Given the description of an element on the screen output the (x, y) to click on. 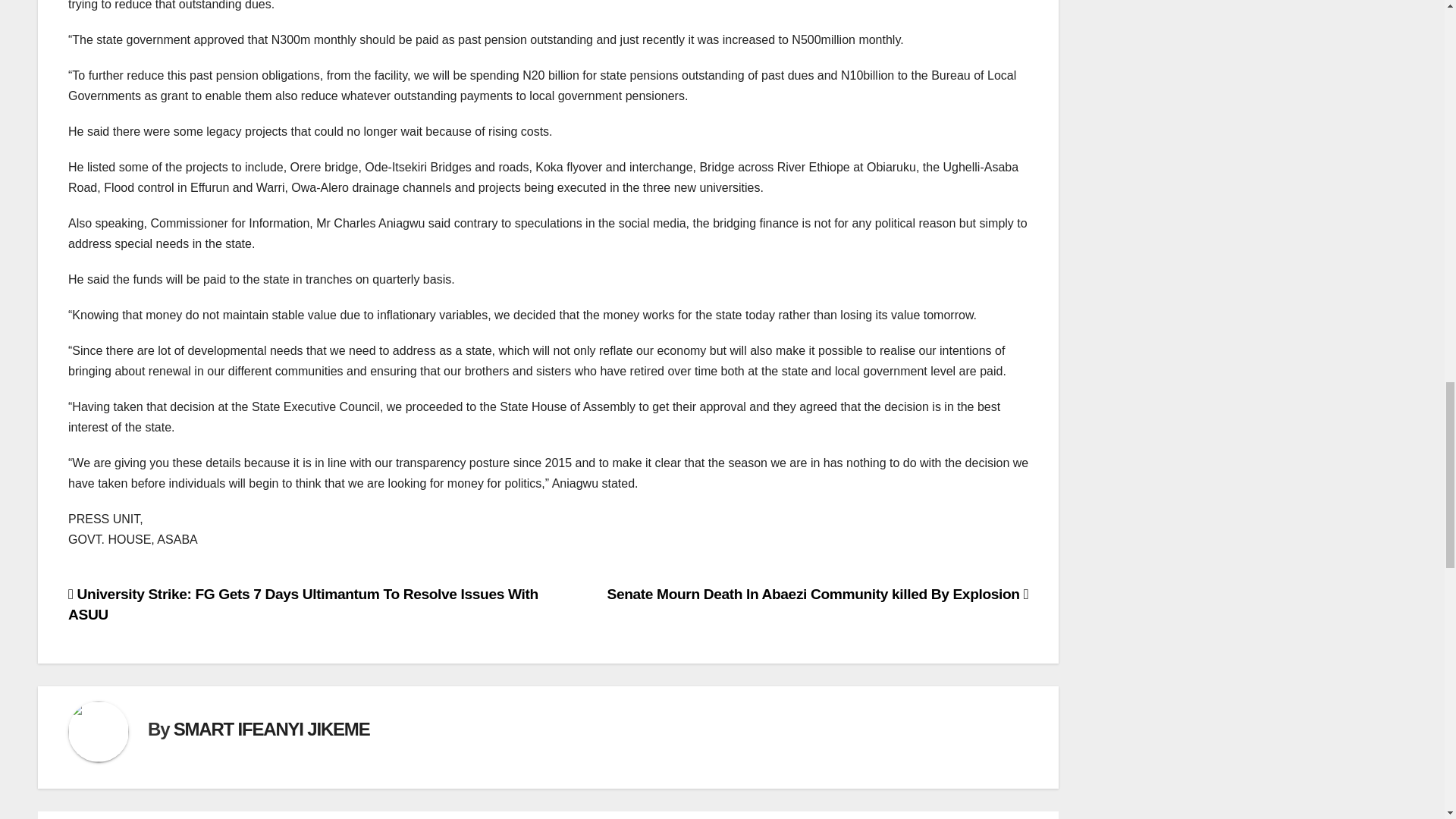
Senate Mourn Death In Abaezi Community killed By Explosion (817, 593)
SMART IFEANYI JIKEME (271, 729)
